Given the description of an element on the screen output the (x, y) to click on. 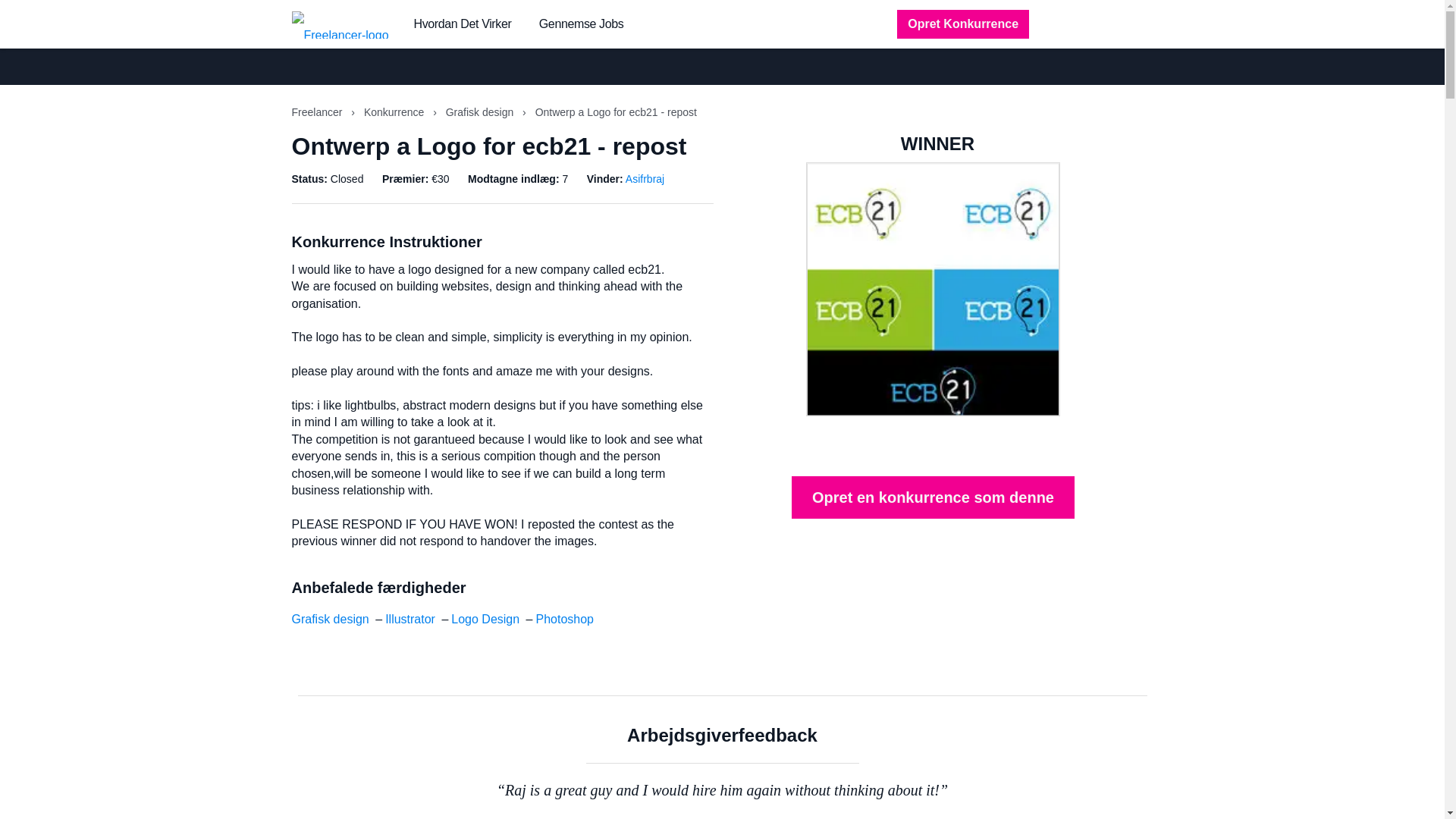
Illustrator (410, 618)
Gennemse Jobs (581, 24)
Opret Konkurrence (962, 23)
Asifrbraj (644, 178)
Logo Design (485, 618)
Hvordan Det Virker (462, 24)
Konkurrence (395, 111)
Photoshop (564, 618)
Freelancer (318, 111)
Grafisk design (329, 618)
Opret en konkurrence som denne (933, 496)
Grafisk design (480, 111)
